Given the description of an element on the screen output the (x, y) to click on. 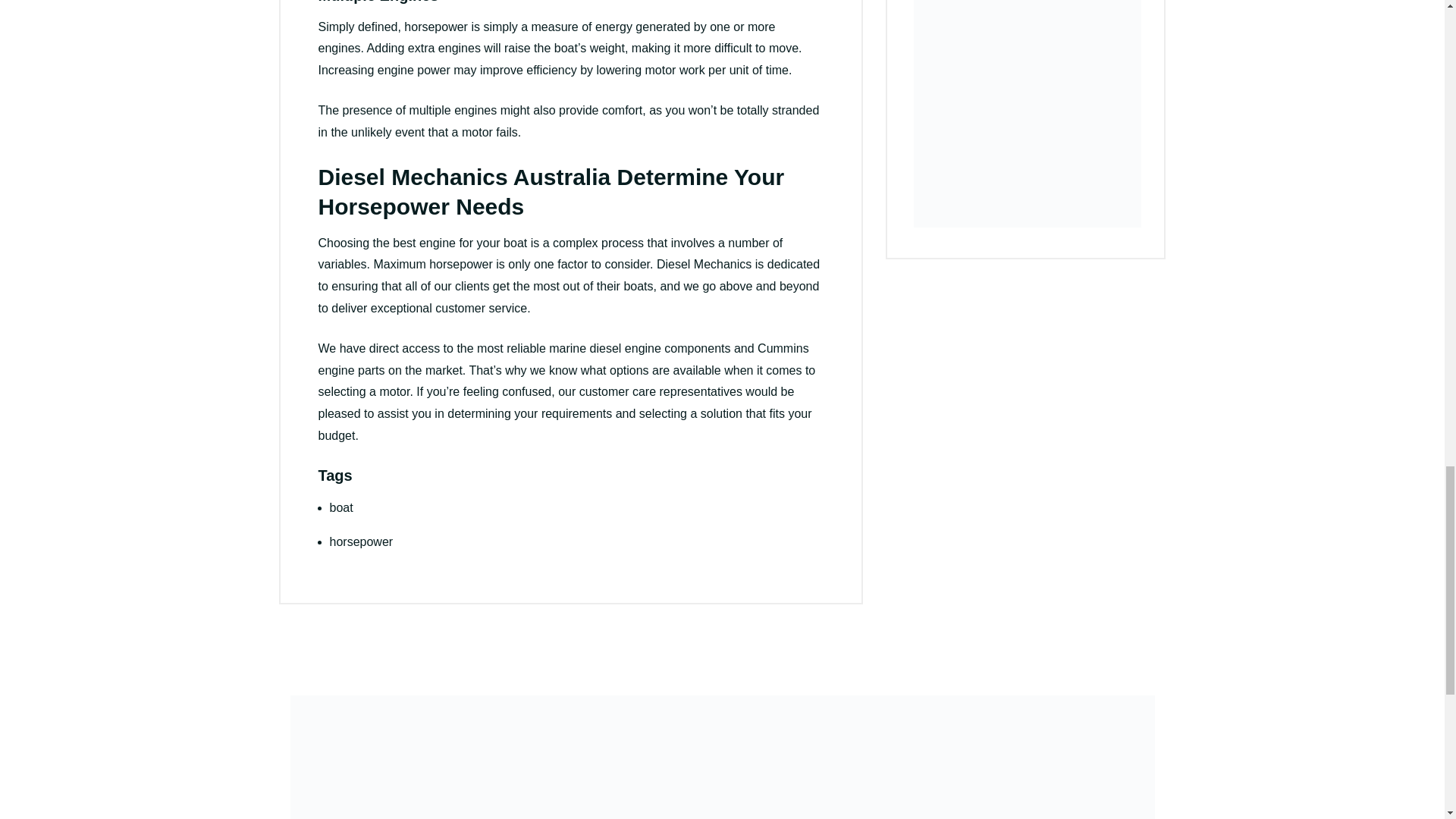
boat (340, 507)
service (507, 308)
Diesel Mechanics (703, 264)
horsepower (361, 541)
